Given the description of an element on the screen output the (x, y) to click on. 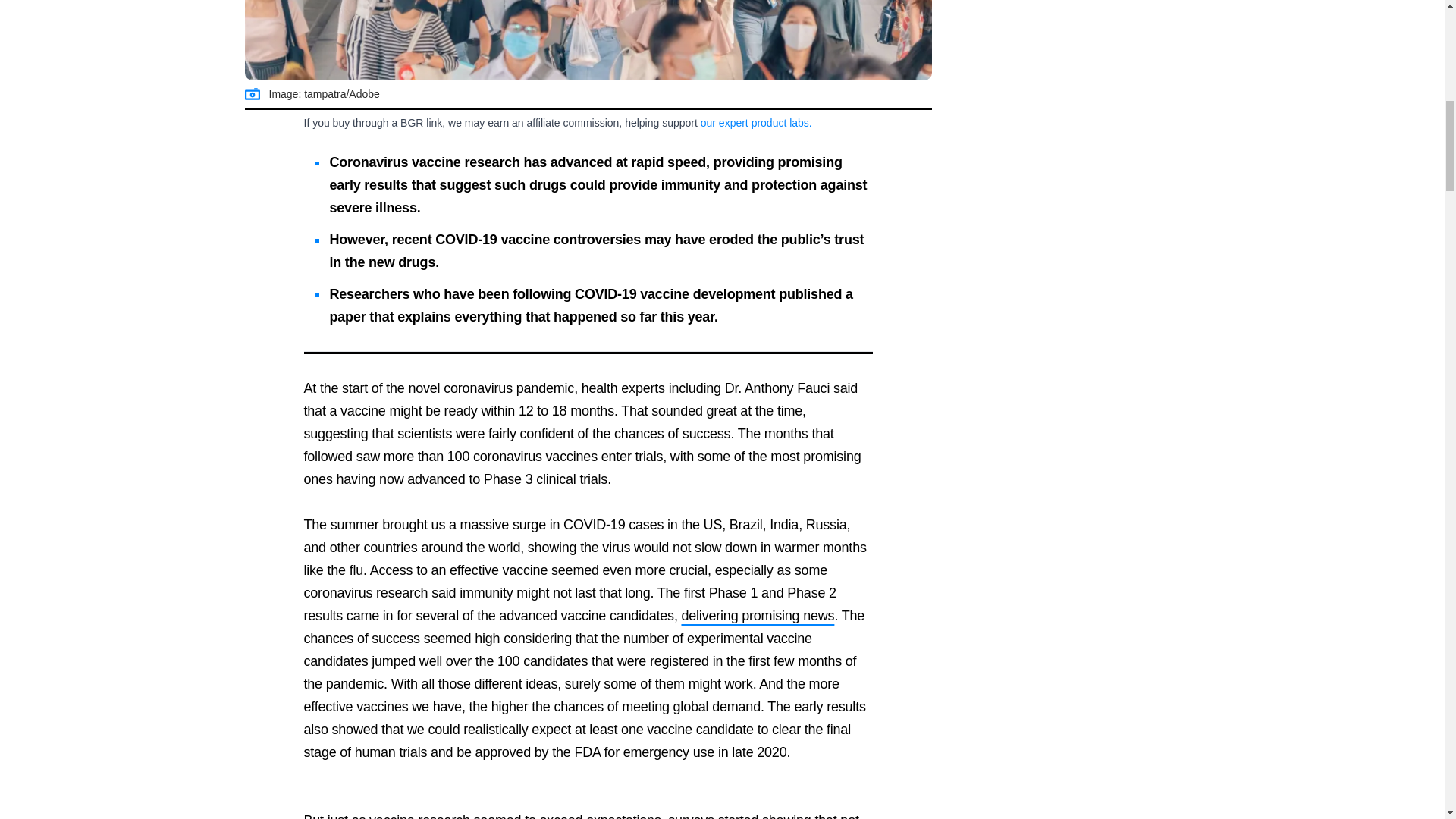
Coronavirus Vaccine (587, 40)
